Given the description of an element on the screen output the (x, y) to click on. 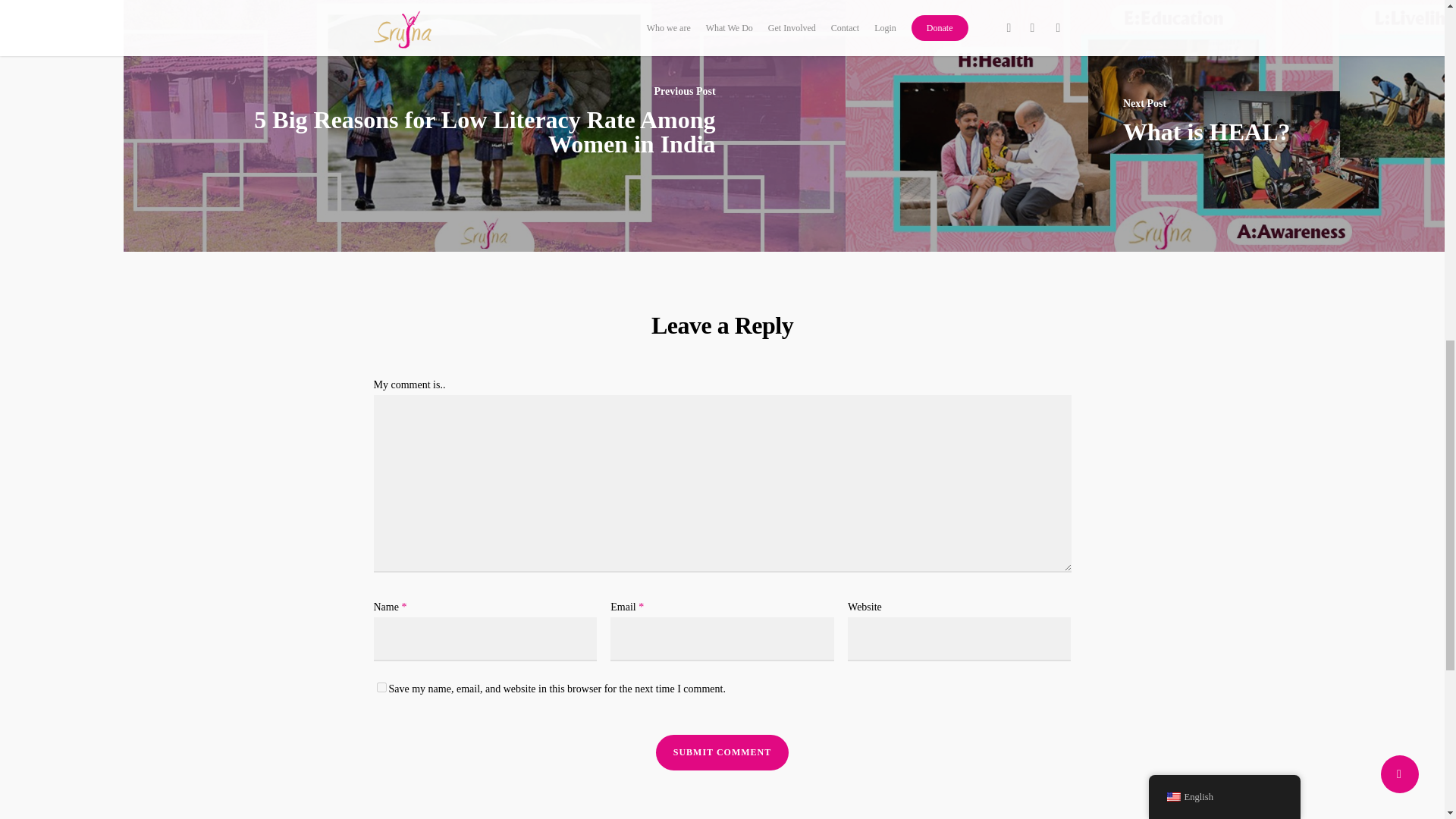
Submit Comment (722, 752)
yes (380, 687)
Submit Comment (722, 752)
